Given the description of an element on the screen output the (x, y) to click on. 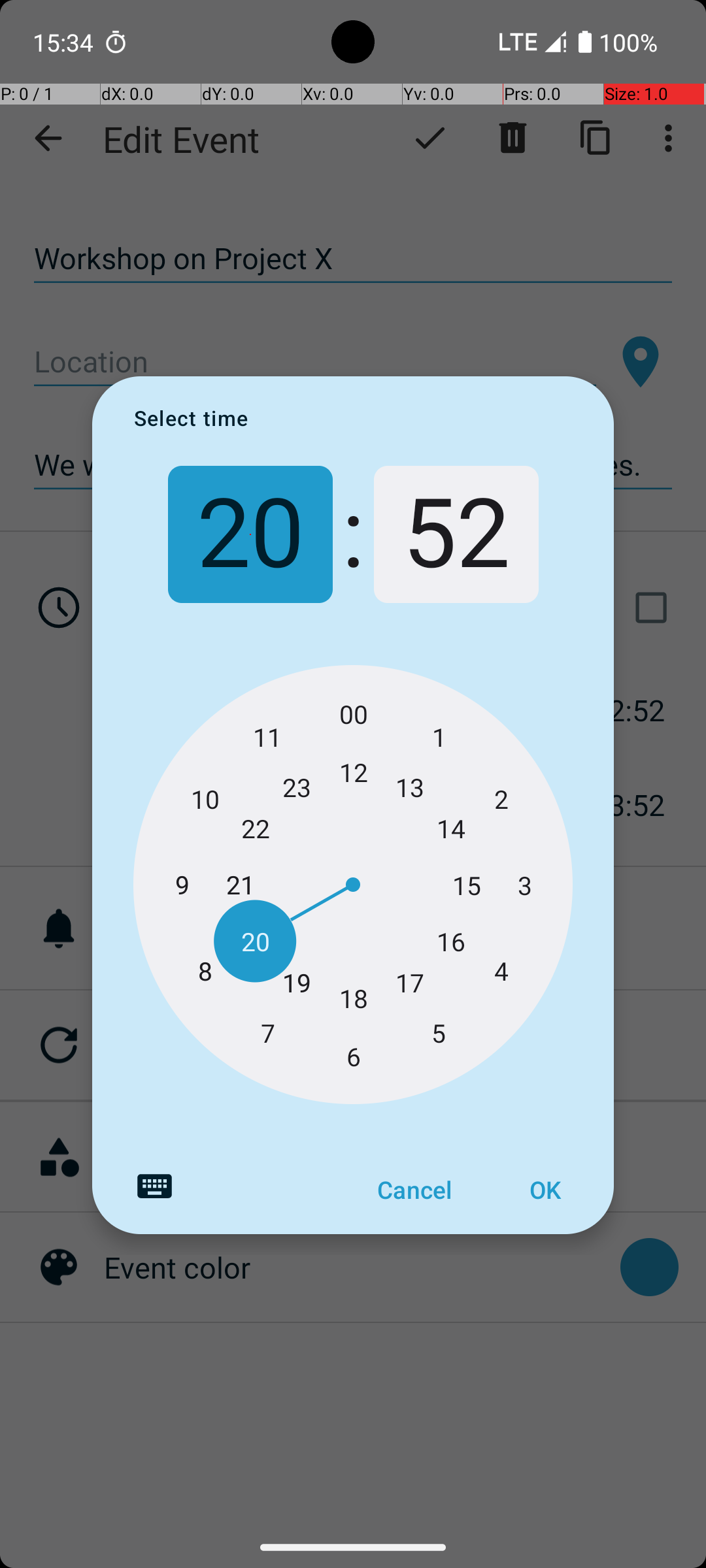
52 Element type: android.view.View (455, 534)
